Given the description of an element on the screen output the (x, y) to click on. 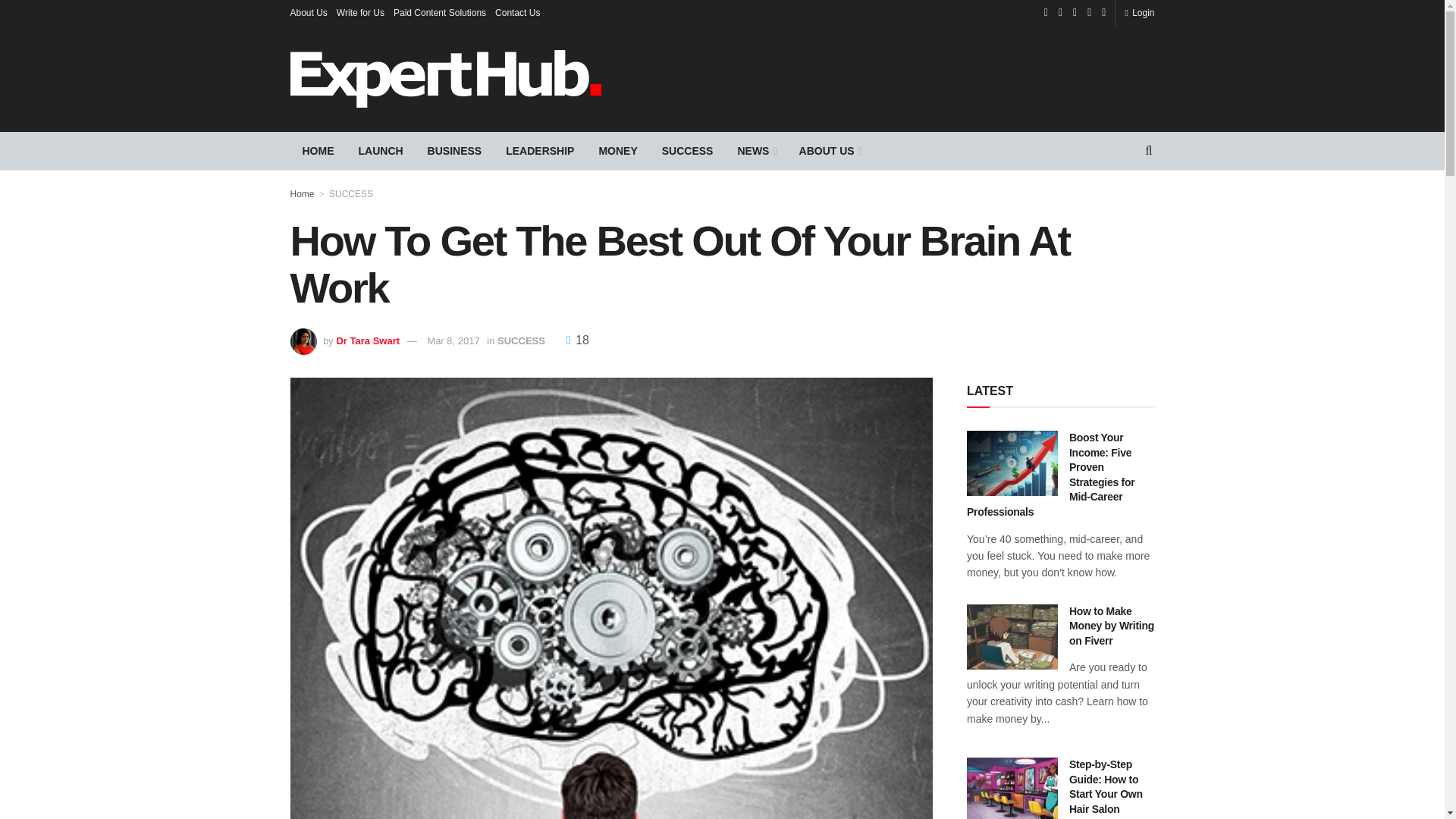
About Us (307, 12)
Login (1139, 12)
LEADERSHIP (539, 150)
MONEY (617, 150)
SUCCESS (687, 150)
BUSINESS (454, 150)
Paid Content Solutions (439, 12)
ABOUT US (829, 150)
Contact Us (517, 12)
NEWS (755, 150)
